Given the description of an element on the screen output the (x, y) to click on. 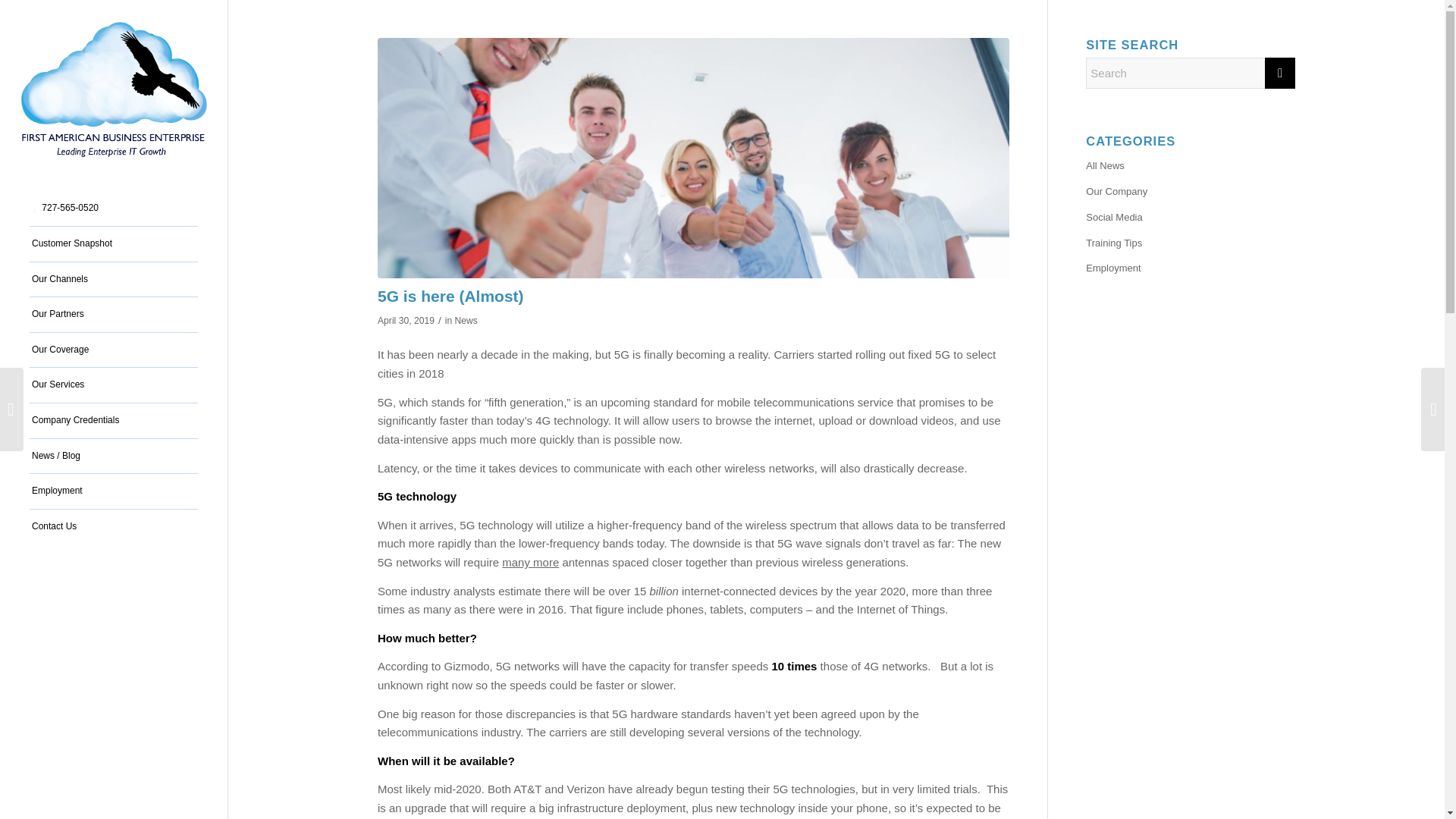
Customer Snapshot (113, 244)
Social Media (1190, 217)
Employment (1190, 268)
Employment (113, 491)
Our Channels (113, 280)
Our Company (1190, 192)
Our Coverage (113, 350)
Our Partners (113, 314)
Contact Us (113, 526)
All News (1190, 166)
